Given the description of an element on the screen output the (x, y) to click on. 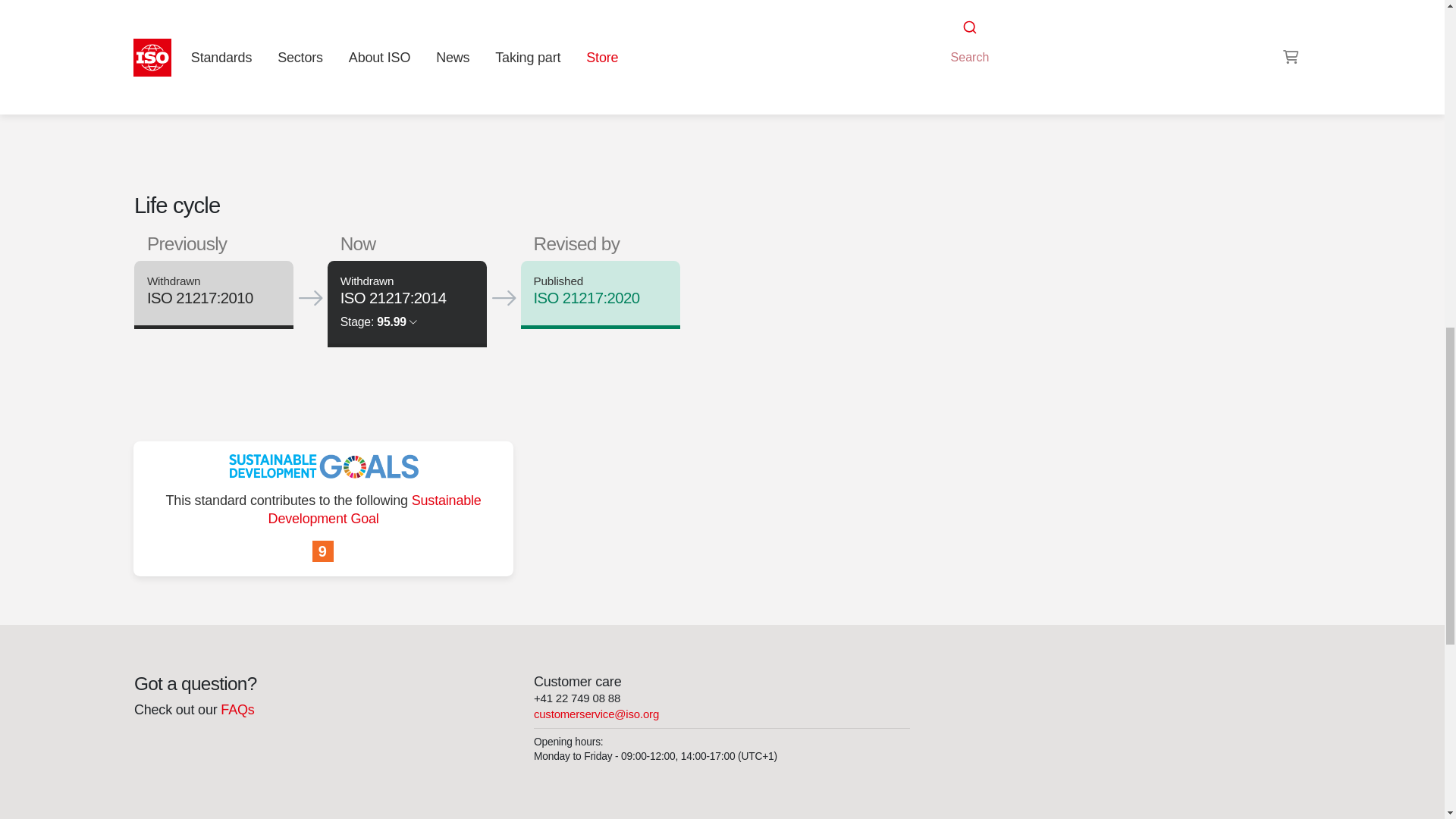
Transport in general (997, 8)
03.220.01 (997, 8)
Industry, Innovation and Infrastructure (323, 551)
RSS (956, 38)
IT applications in transport (1063, 8)
Stage: 95.99 (377, 321)
35.240.60 (1063, 8)
ISO 21217:2010 (199, 297)
